Given the description of an element on the screen output the (x, y) to click on. 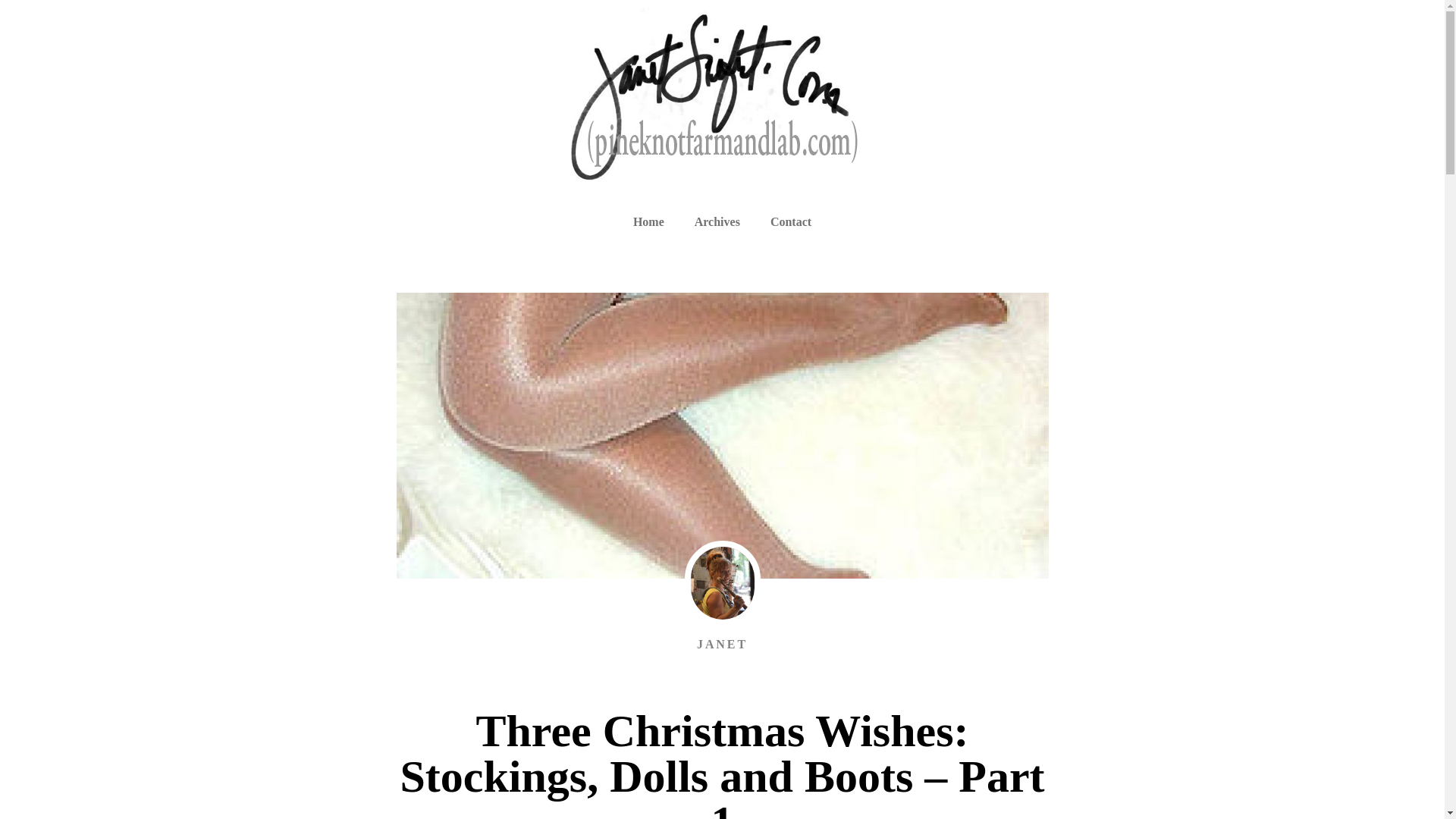
Archives (717, 221)
Contact (791, 221)
Home (648, 221)
